Given the description of an element on the screen output the (x, y) to click on. 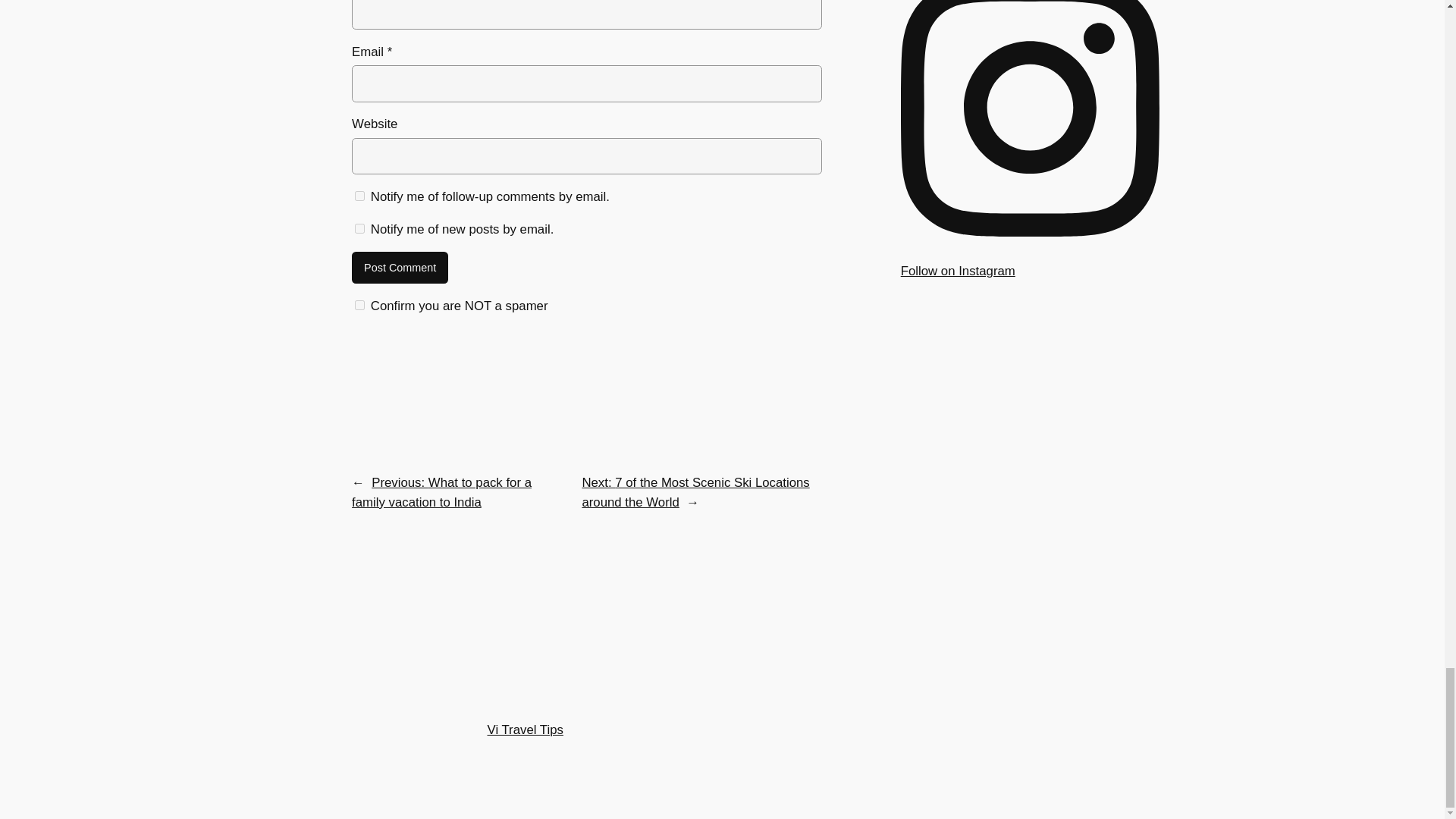
on (360, 305)
Post Comment (400, 267)
subscribe (360, 228)
subscribe (360, 195)
